Given the description of an element on the screen output the (x, y) to click on. 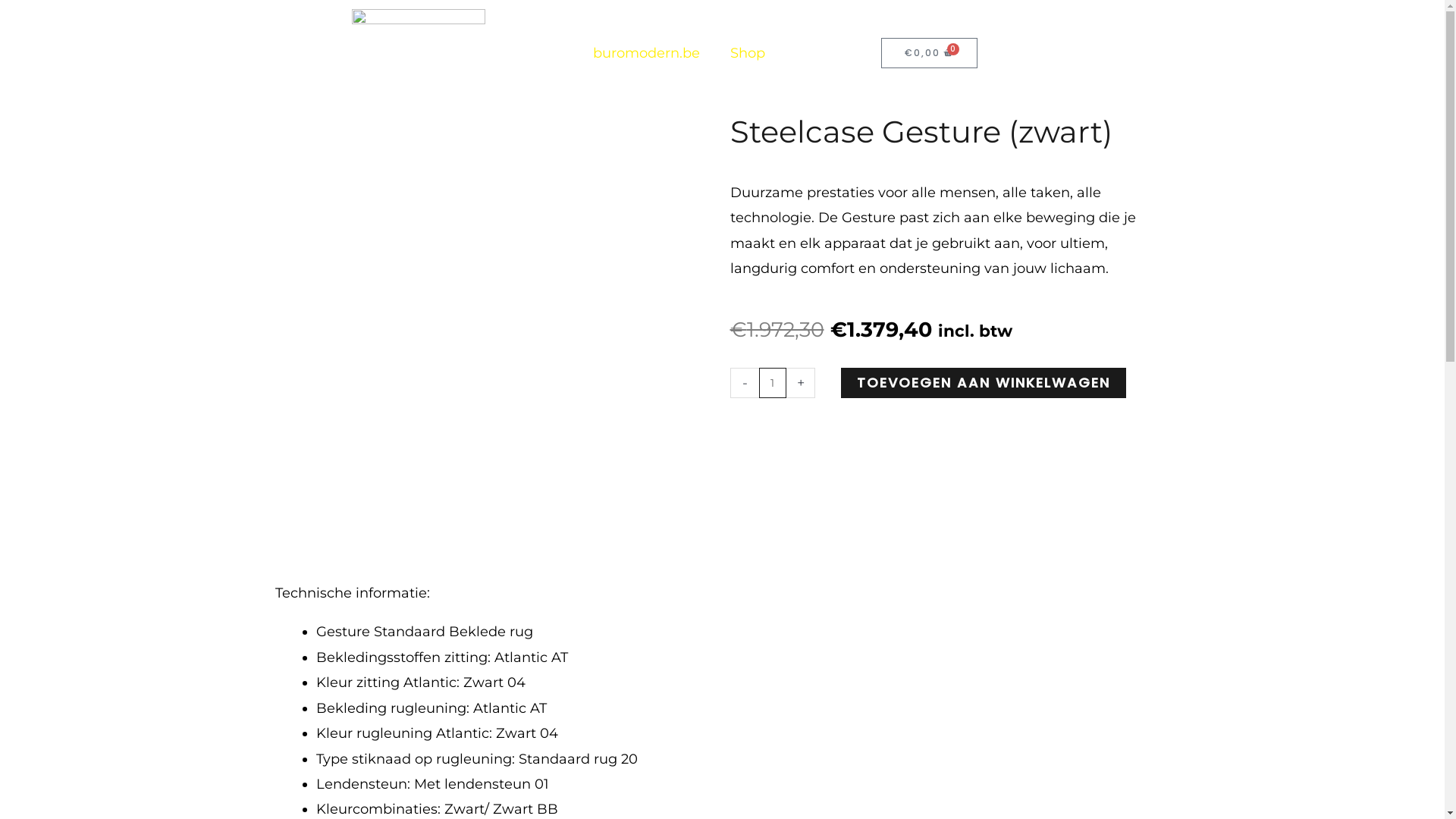
Shop Element type: text (747, 52)
- Element type: text (743, 382)
TOEVOEGEN AAN WINKELWAGEN Element type: text (983, 382)
buromodern.be Element type: text (646, 52)
+ Element type: text (800, 382)
